Given the description of an element on the screen output the (x, y) to click on. 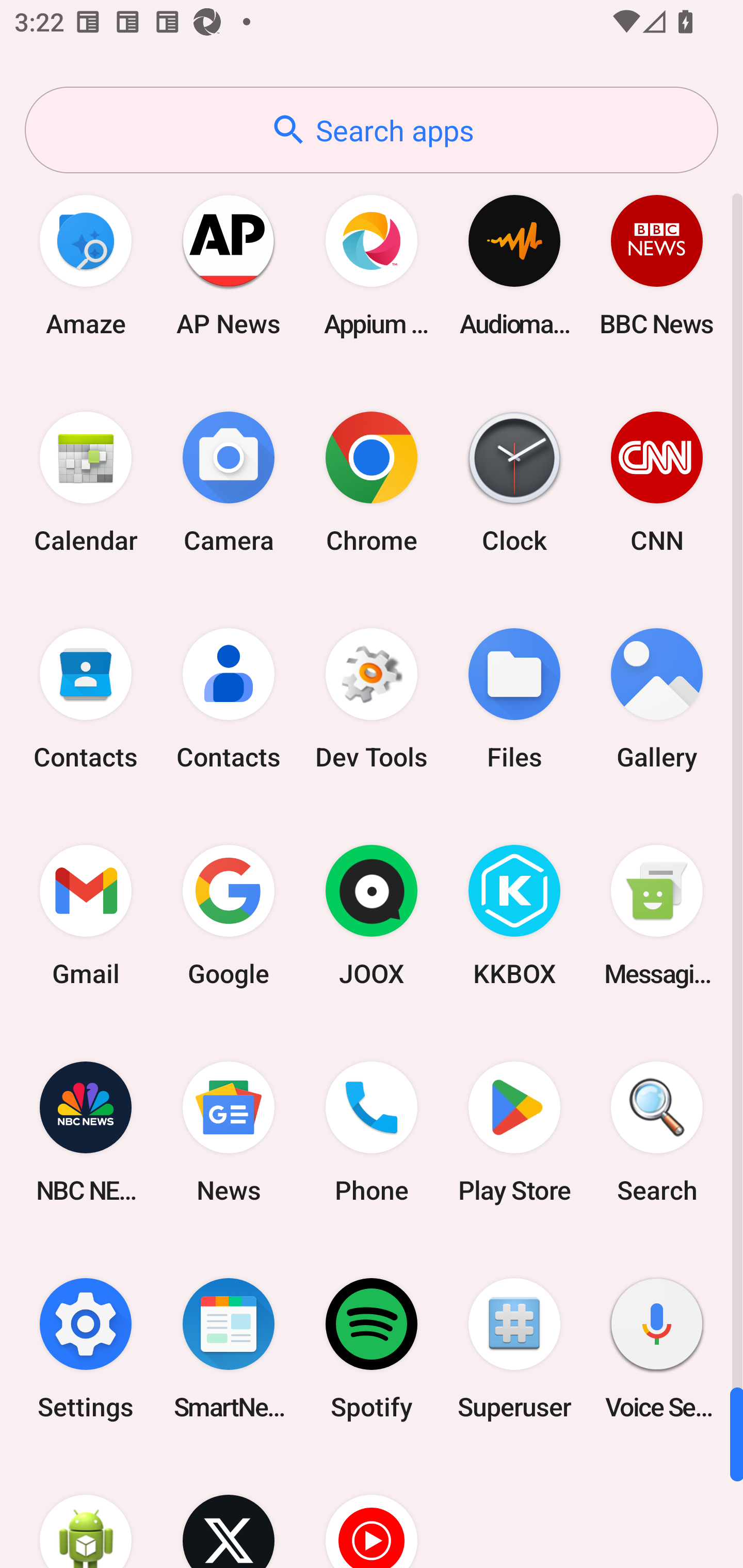
  Search apps (371, 130)
Amaze (85, 264)
AP News (228, 264)
Appium Settings (371, 264)
Audio­mack (514, 264)
BBC News (656, 264)
Calendar (85, 482)
Camera (228, 482)
Chrome (371, 482)
Clock (514, 482)
CNN (656, 482)
Contacts (85, 699)
Contacts (228, 699)
Dev Tools (371, 699)
Files (514, 699)
Gallery (656, 699)
Gmail (85, 915)
Google (228, 915)
JOOX (371, 915)
KKBOX (514, 915)
Messaging (656, 915)
NBC NEWS (85, 1131)
News (228, 1131)
Phone (371, 1131)
Play Store (514, 1131)
Search (656, 1131)
Settings (85, 1348)
SmartNews (228, 1348)
Spotify (371, 1348)
Superuser (514, 1348)
Voice Search (656, 1348)
WebView Browser Tester (85, 1512)
X (228, 1512)
YT Music (371, 1512)
